Given the description of an element on the screen output the (x, y) to click on. 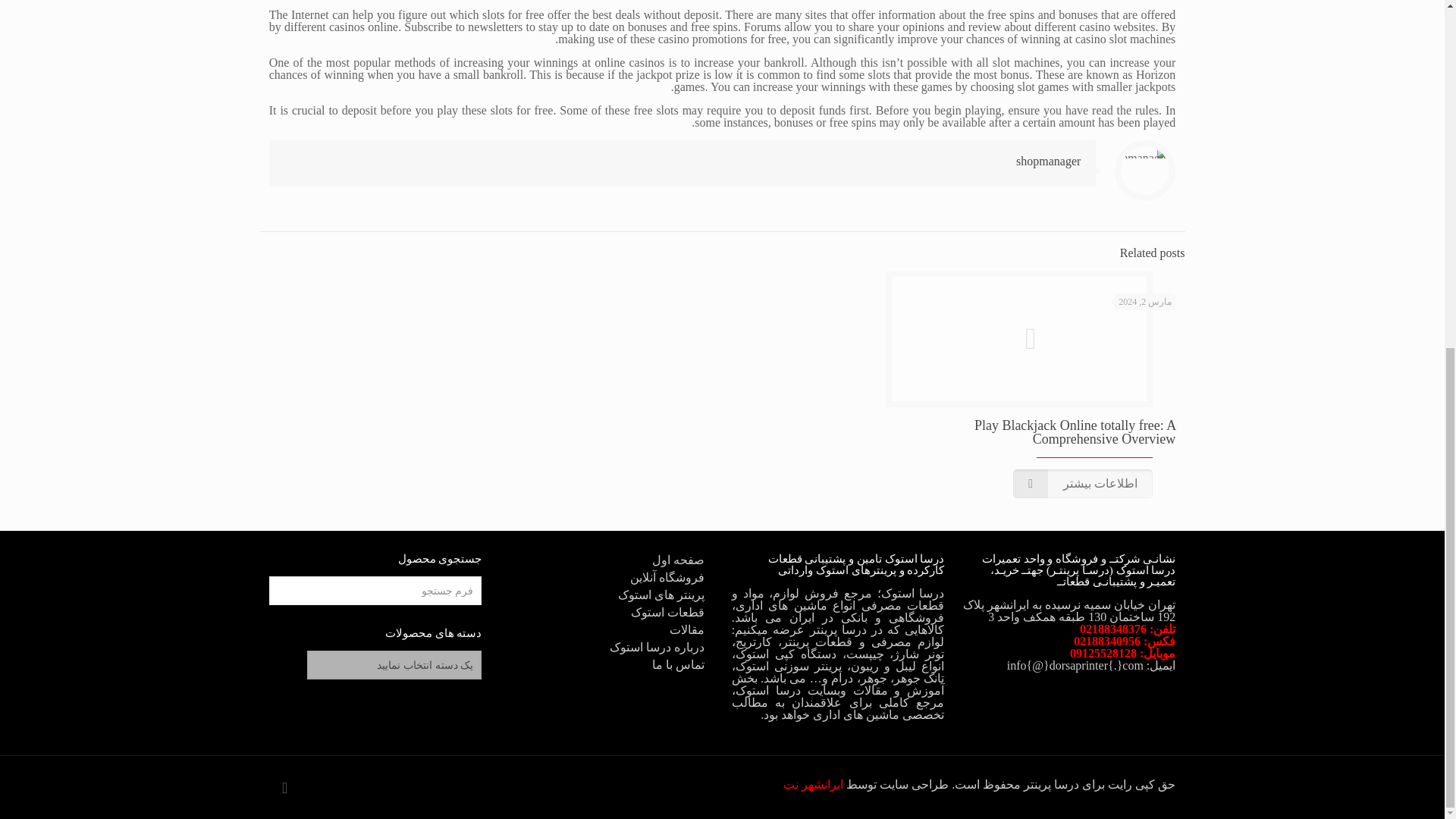
Play Blackjack Online totally free: A Comprehensive Overview (1074, 431)
shopmanager (1048, 160)
